Given the description of an element on the screen output the (x, y) to click on. 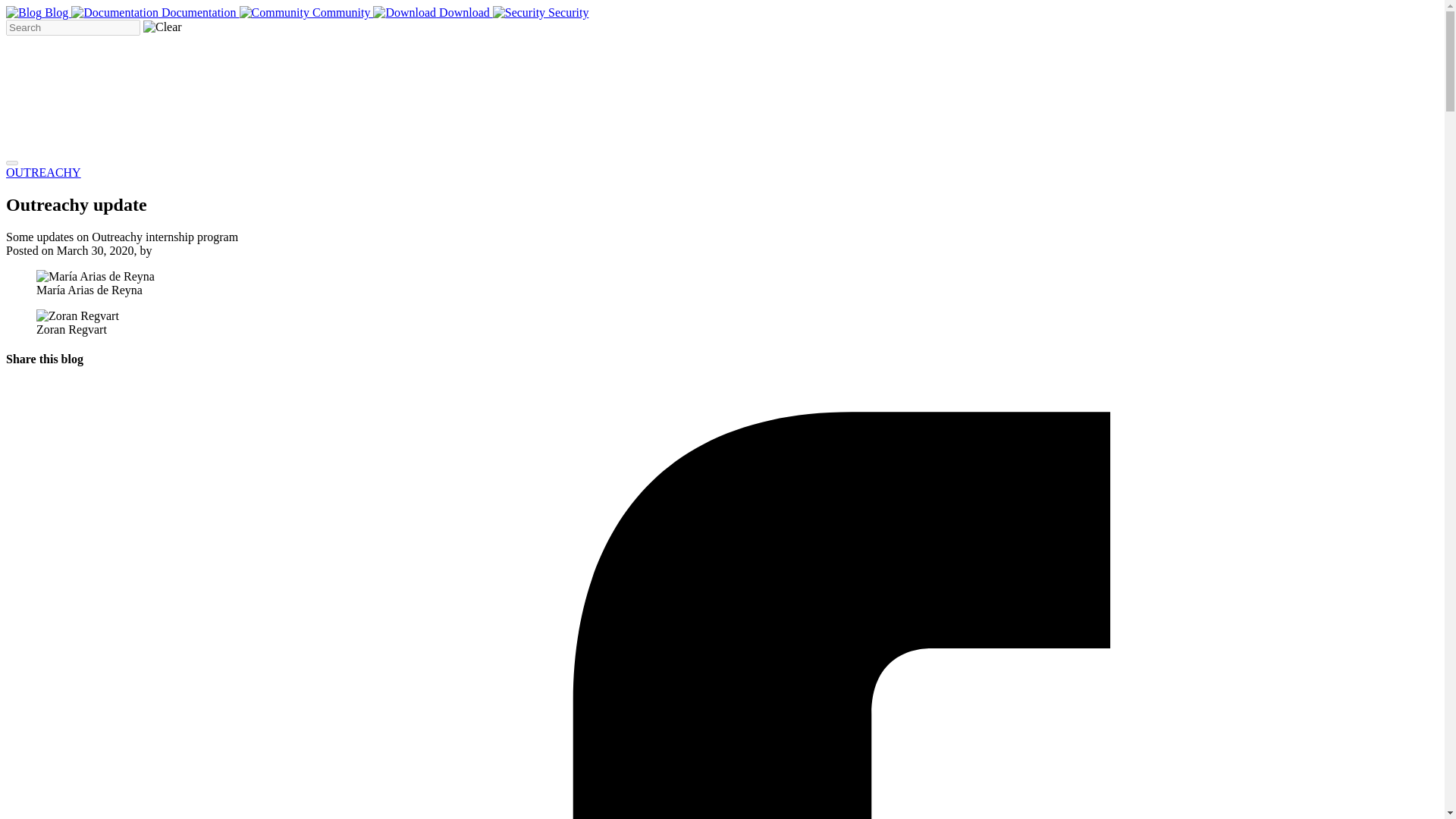
Security (541, 11)
Follow Apache Camel on Twitter (580, 144)
Apache Camel group on Linkedin (810, 144)
Documentation (154, 11)
Chat on Zulip (349, 144)
Blog (38, 11)
Download (432, 11)
Community (307, 11)
OUTREACHY (43, 172)
Monday, March 30, 2020 (94, 250)
